Given the description of an element on the screen output the (x, y) to click on. 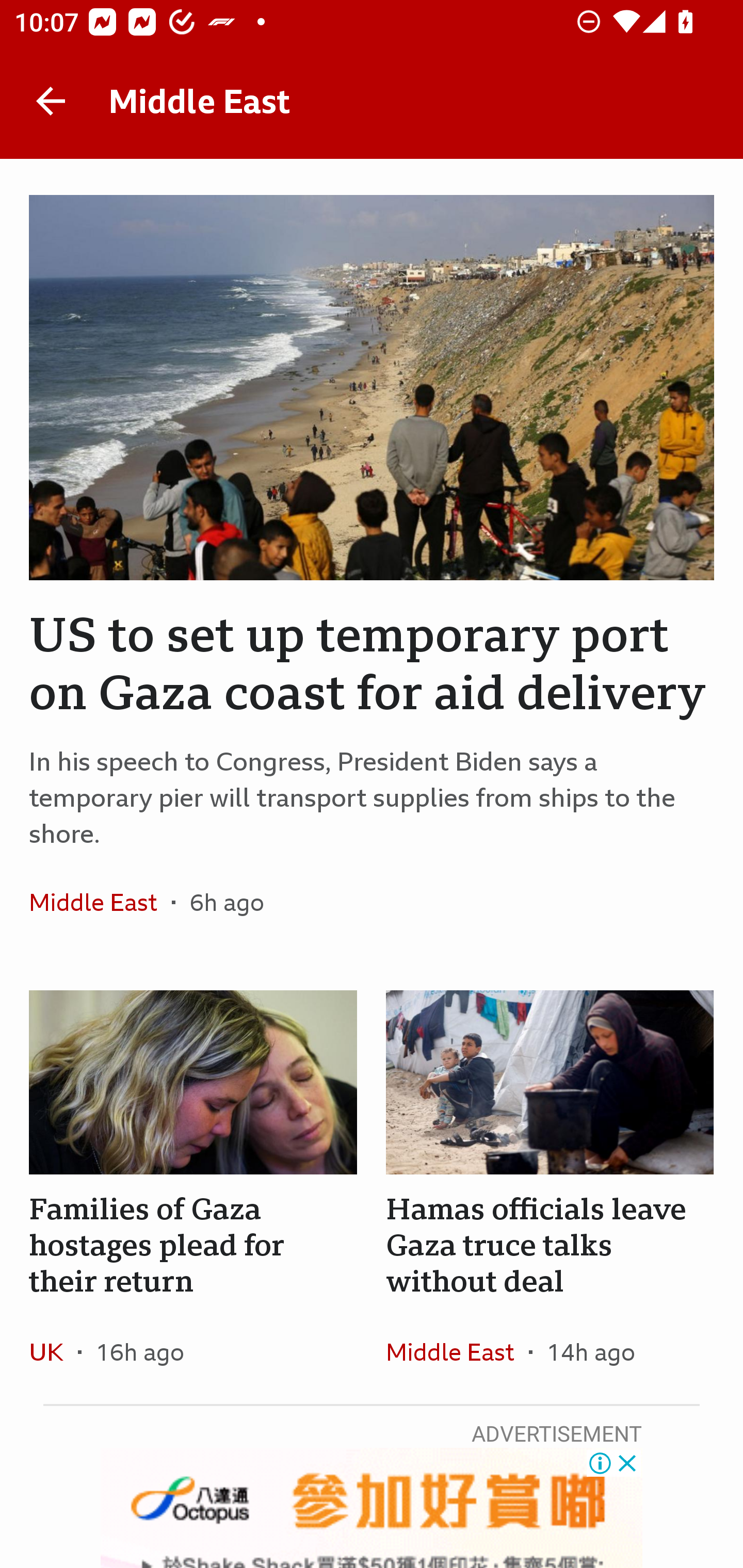
Back (50, 101)
Middle East In the section Middle East (99, 901)
UK In the section UK (53, 1351)
Middle East In the section Middle East (457, 1351)
